Given the description of an element on the screen output the (x, y) to click on. 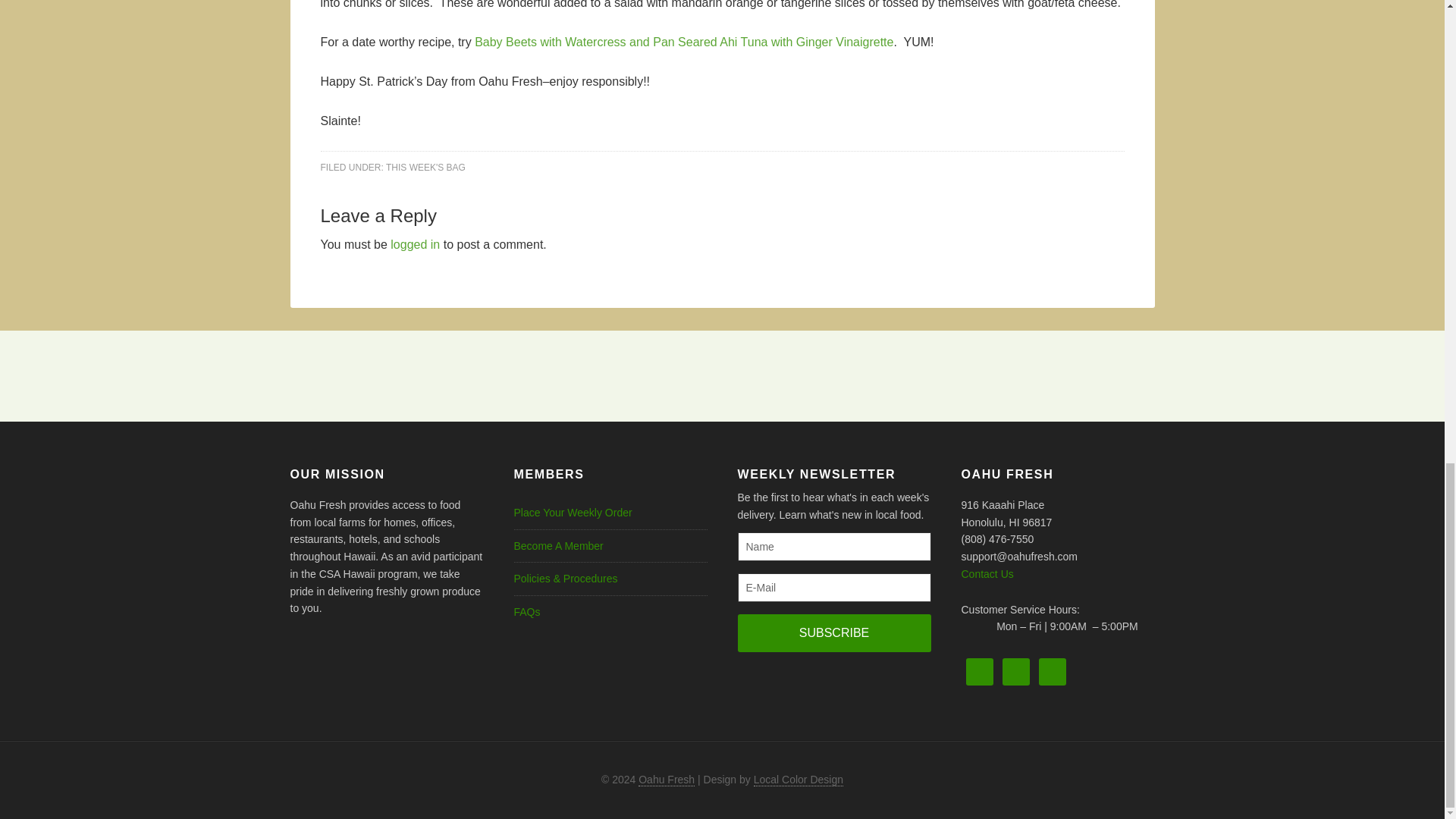
Contact Us (986, 573)
Subscribe (833, 632)
logged in (414, 244)
FAQs (526, 612)
THIS WEEK'S BAG (425, 166)
Become A Member (558, 545)
Subscribe (833, 632)
Place Your Weekly Order (572, 512)
